Given the description of an element on the screen output the (x, y) to click on. 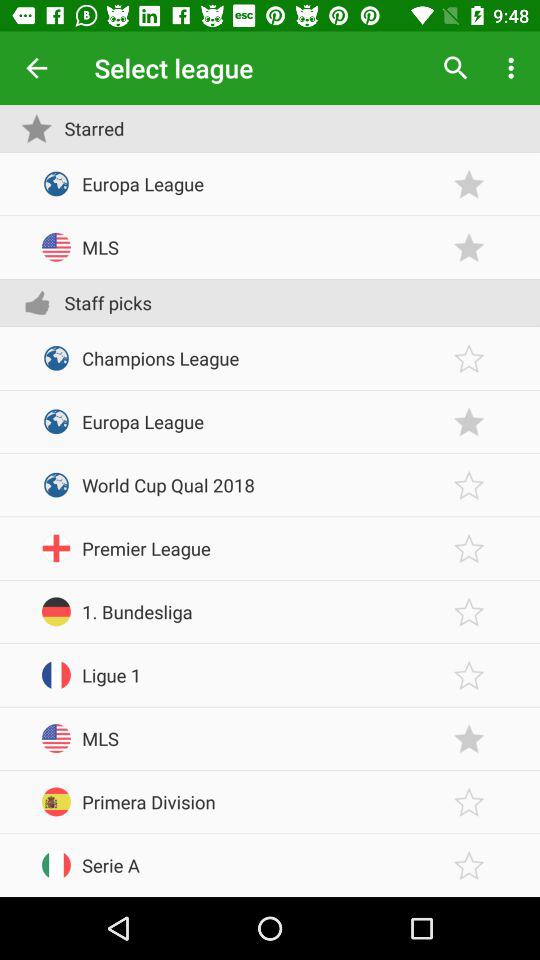
select star (469, 674)
